Given the description of an element on the screen output the (x, y) to click on. 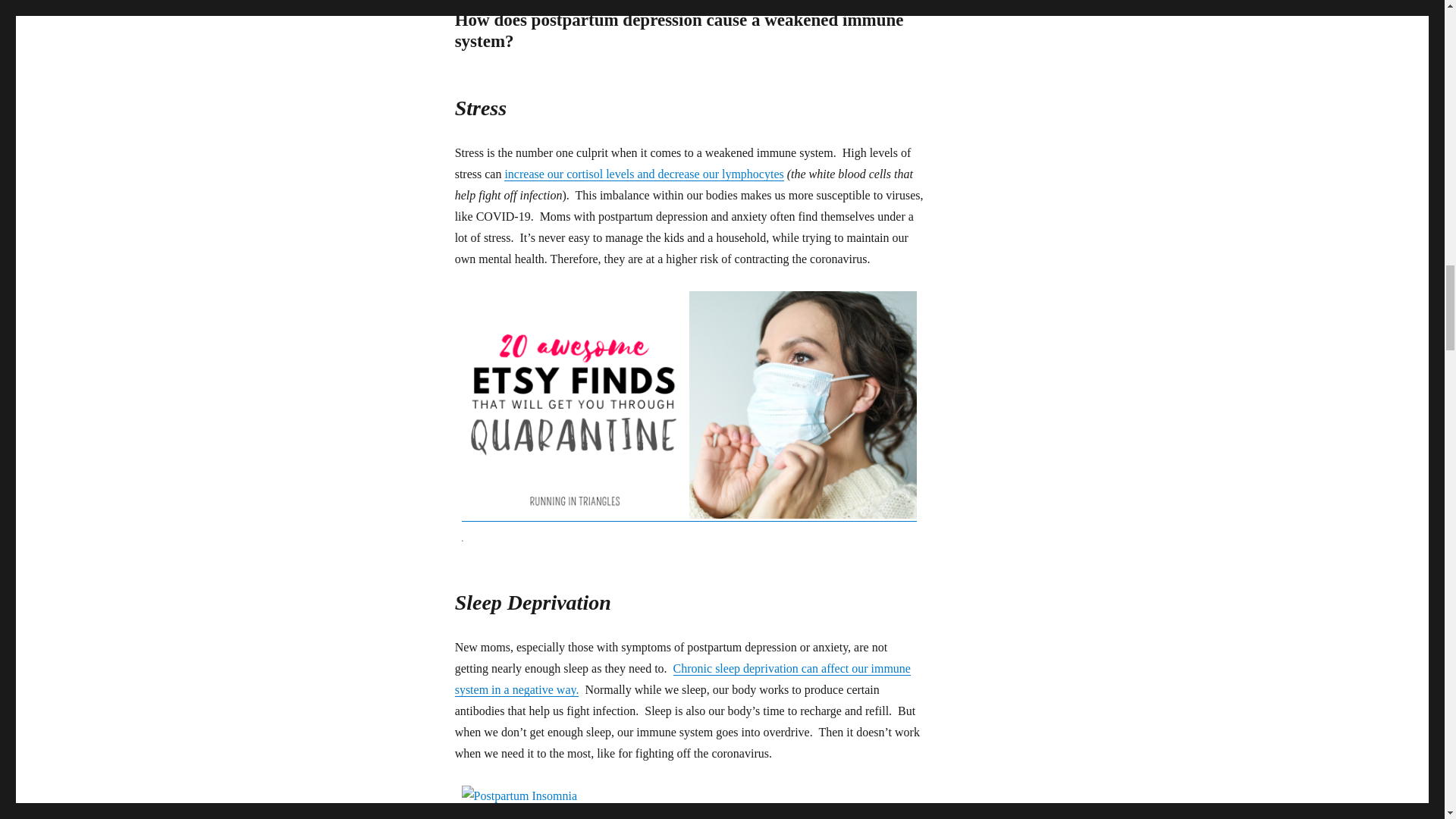
increase our cortisol levels and decrease our lymphocytes (643, 173)
